Given the description of an element on the screen output the (x, y) to click on. 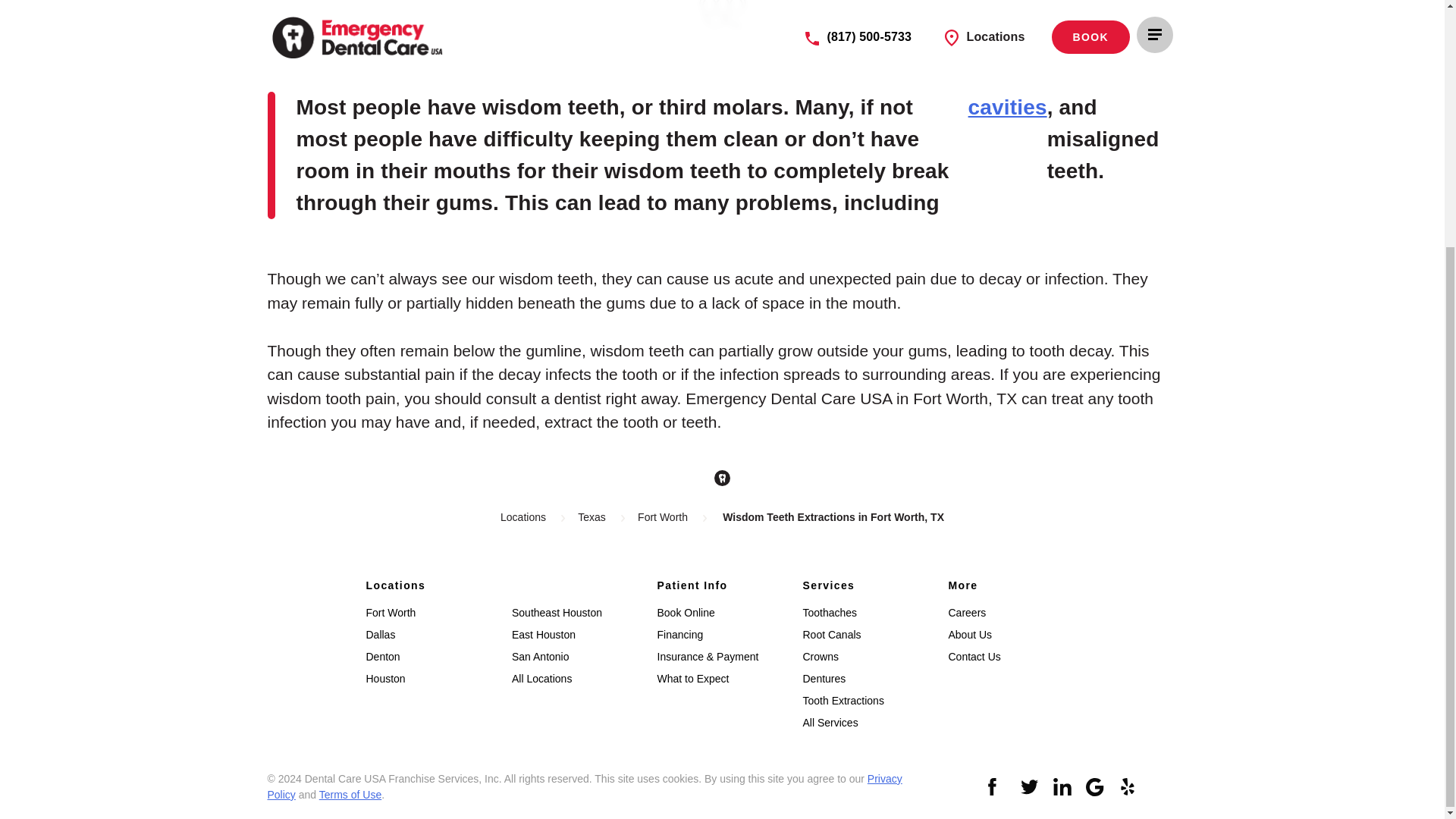
Fort Worth (662, 517)
Twitter (1029, 787)
Home (721, 478)
Locations (523, 517)
Texas (591, 517)
cavities (1007, 155)
LinkedIn (1061, 787)
Facebook (997, 787)
